Given the description of an element on the screen output the (x, y) to click on. 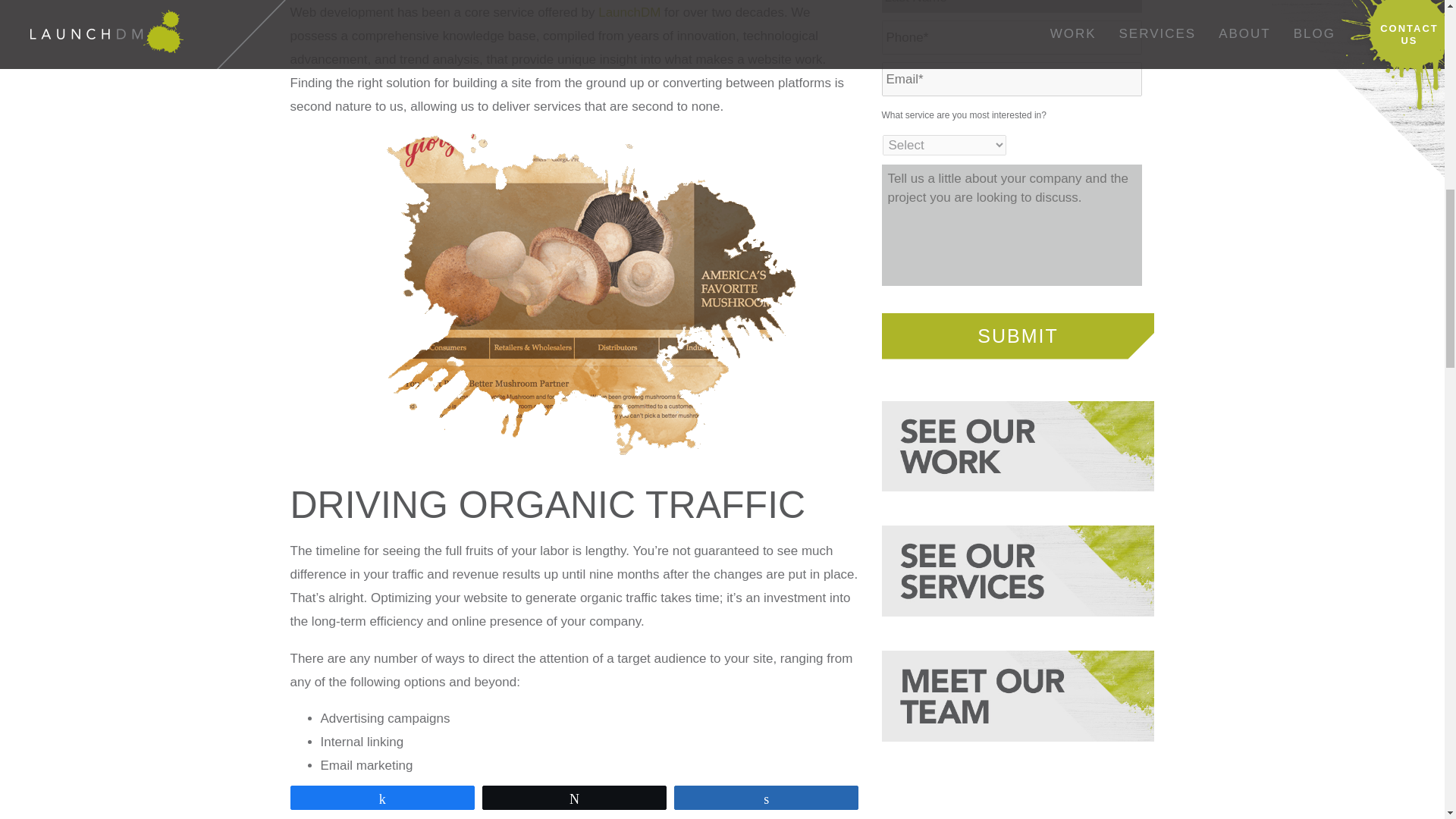
LaunchDM (629, 11)
SUBMIT (1017, 335)
